Given the description of an element on the screen output the (x, y) to click on. 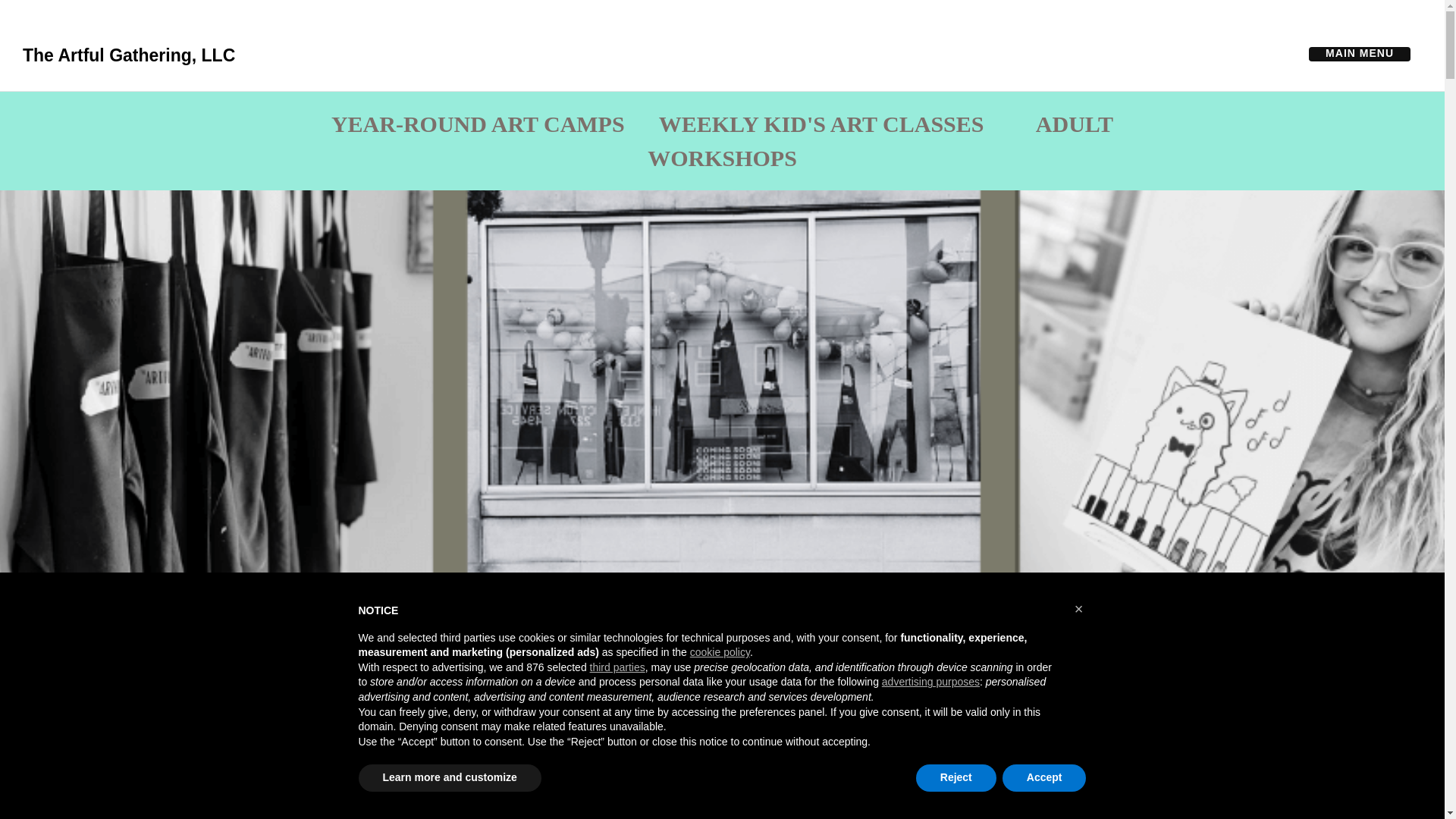
The Artful Gathering, LLC (128, 53)
WEEKLY KID'S ART CLASSES (821, 123)
ADULT WORKSHOPS (880, 140)
MAIN MENU (1359, 53)
YEAR-ROUND ART CAMPS (477, 123)
